Given the description of an element on the screen output the (x, y) to click on. 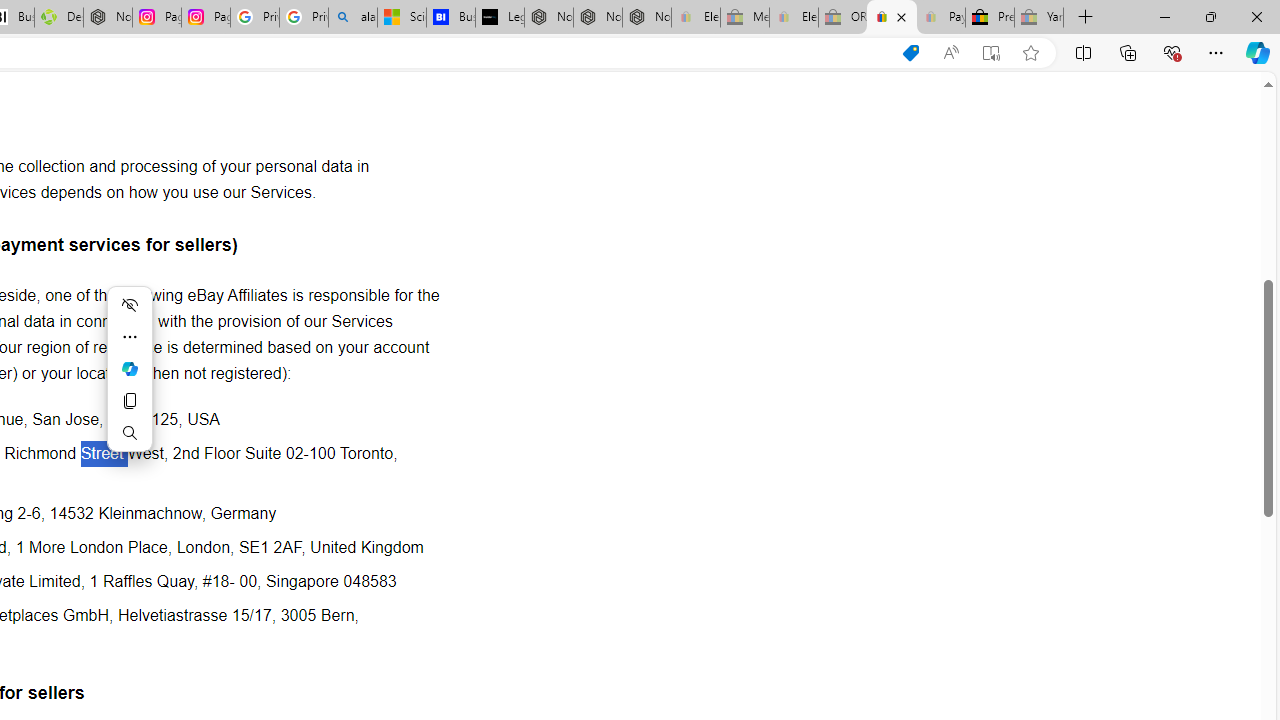
More actions (129, 336)
Mini menu on text selection (129, 368)
Copy (129, 400)
Ask Copilot (129, 368)
